Given the description of an element on the screen output the (x, y) to click on. 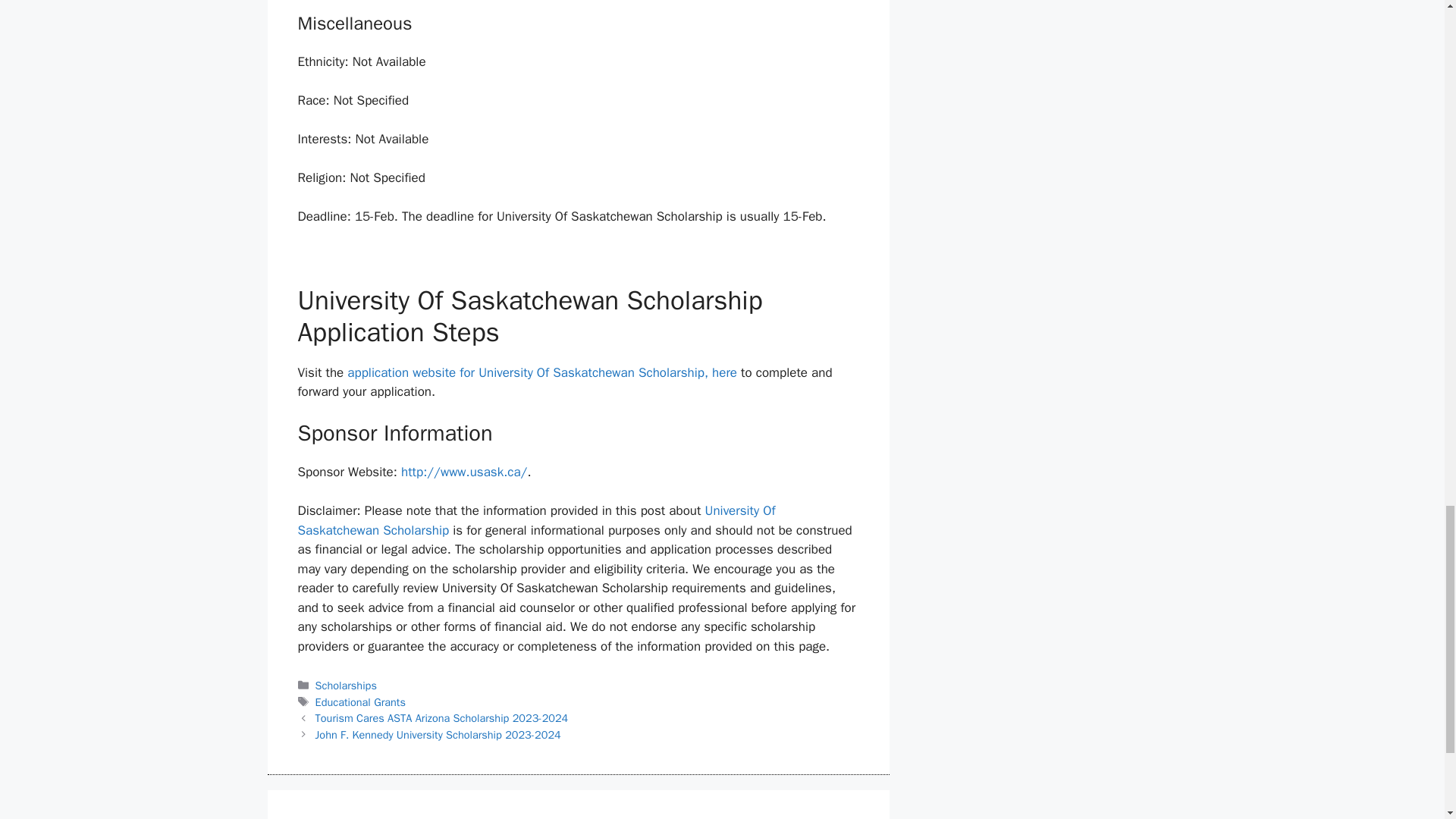
Educational Grants (360, 702)
Tourism Cares ASTA Arizona Scholarship 2023-2024 (442, 717)
John F. Kennedy University Scholarship 2023-2024 (437, 735)
Scholarships (346, 685)
University Of Saskatchewan Scholarship (535, 520)
